Given the description of an element on the screen output the (x, y) to click on. 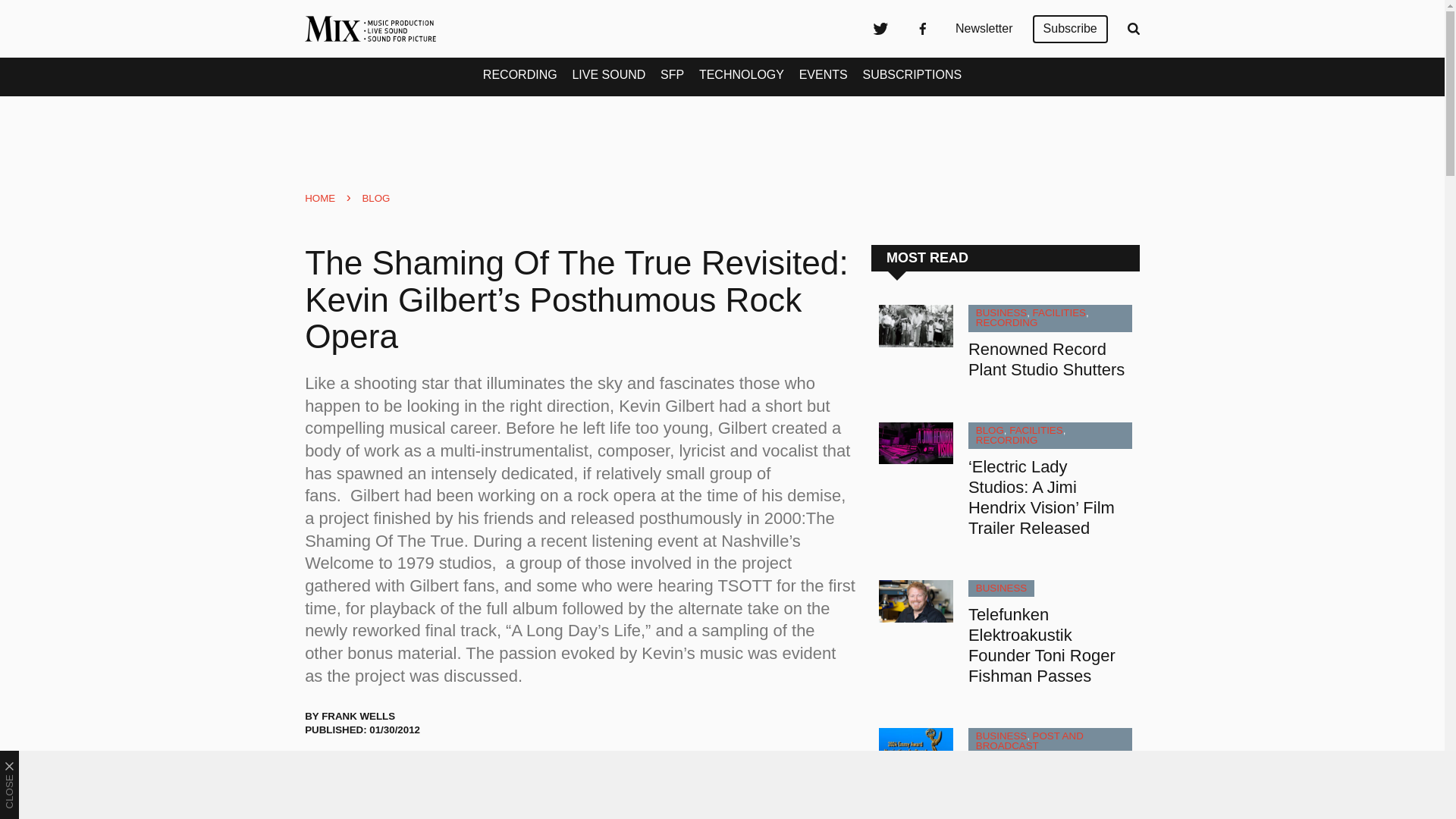
Share via Email (438, 771)
Share on Twitter (323, 771)
Share on LinkedIn (399, 771)
Share on Facebook (361, 771)
